Given the description of an element on the screen output the (x, y) to click on. 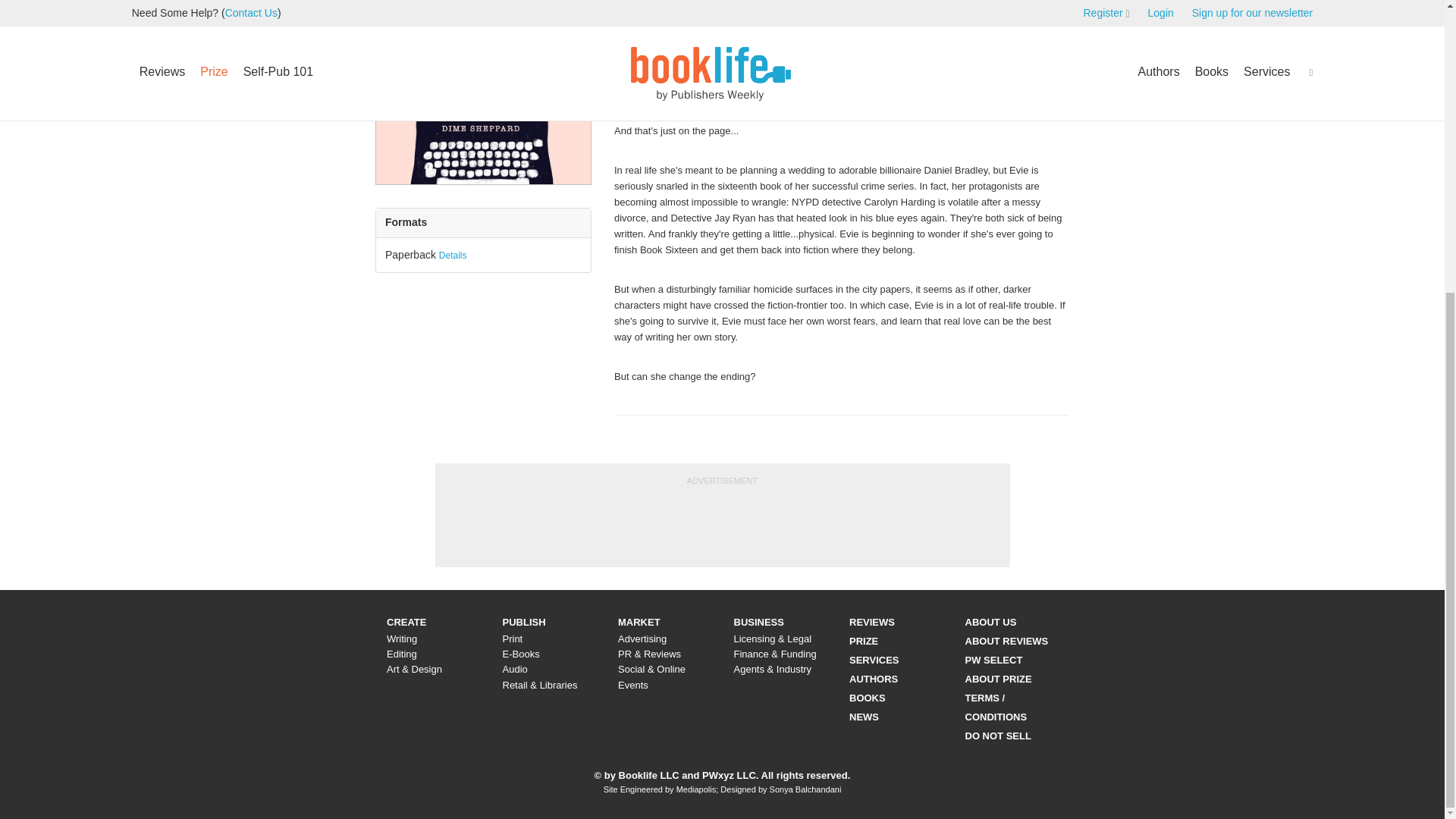
MARKET (639, 622)
Advertising (641, 638)
E-Books (520, 654)
3rd party ad content (721, 521)
Print (512, 638)
Website (1044, 2)
Writing (401, 638)
Audio (514, 668)
3rd party ad content (1323, 262)
Editing (401, 654)
PUBLISH (523, 622)
Tweet (633, 55)
CREATE (406, 622)
Details (453, 255)
